Given the description of an element on the screen output the (x, y) to click on. 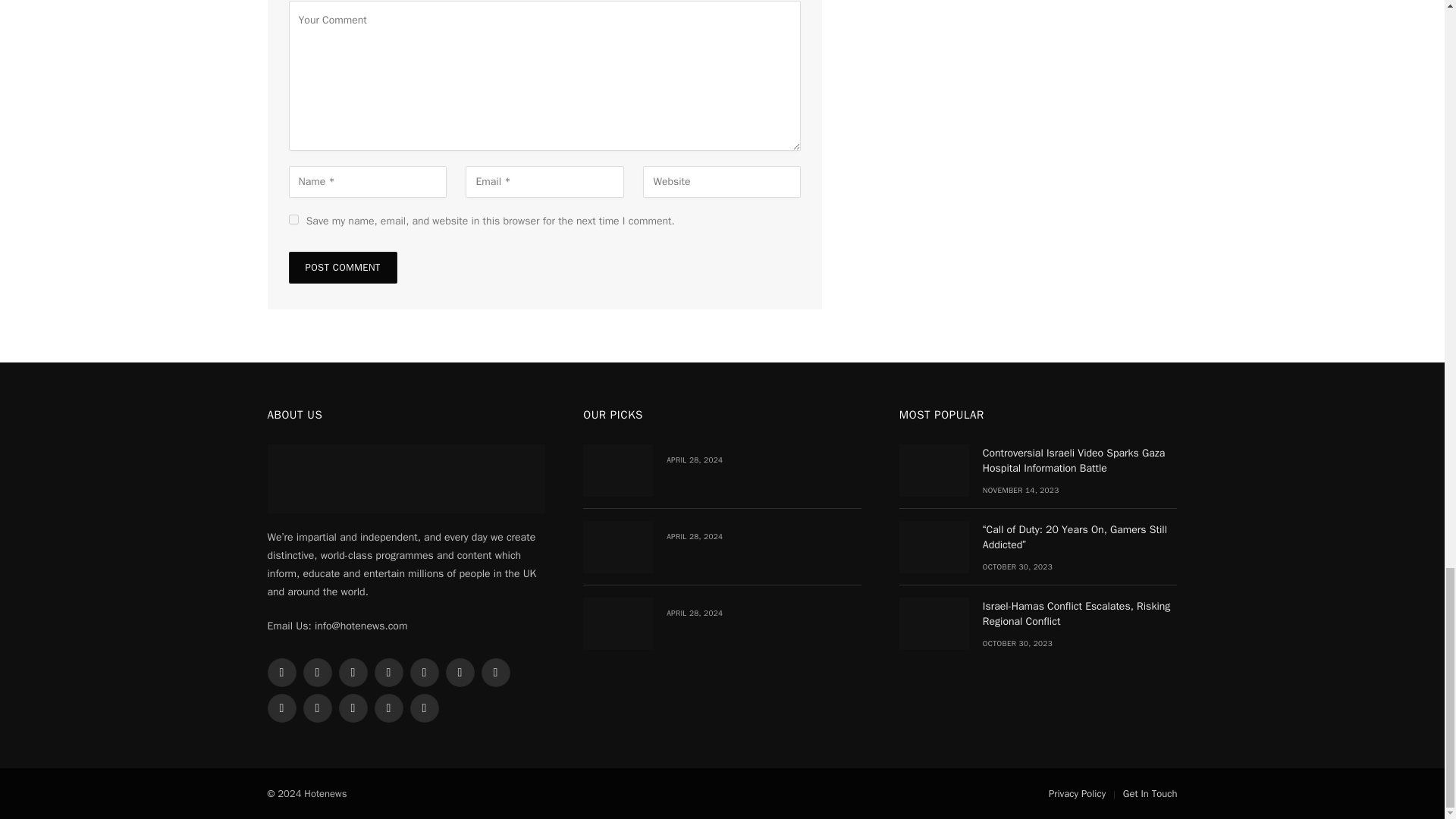
Post Comment (342, 267)
yes (293, 219)
